Given the description of an element on the screen output the (x, y) to click on. 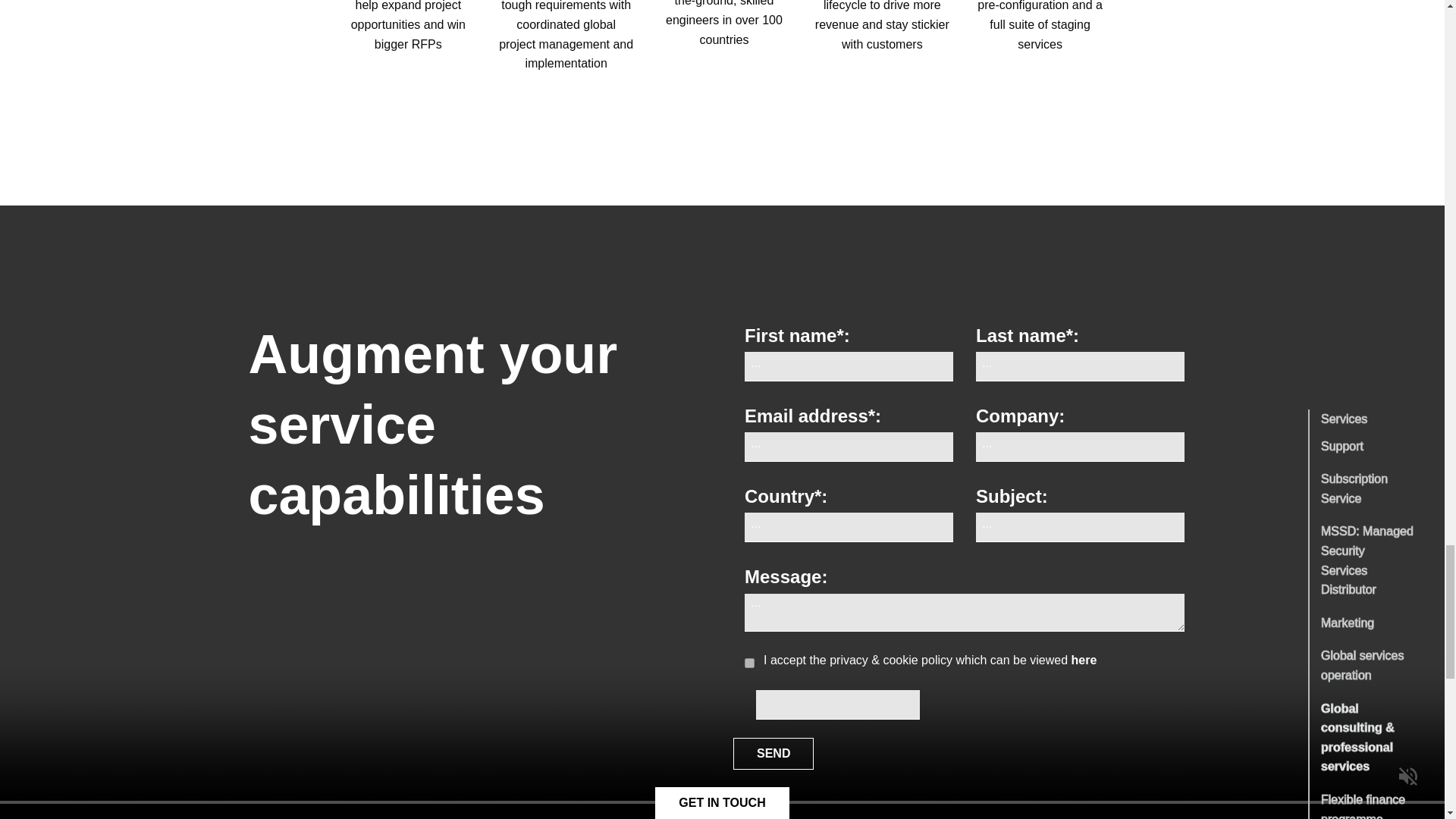
on (749, 663)
Send (773, 753)
